Given the description of an element on the screen output the (x, y) to click on. 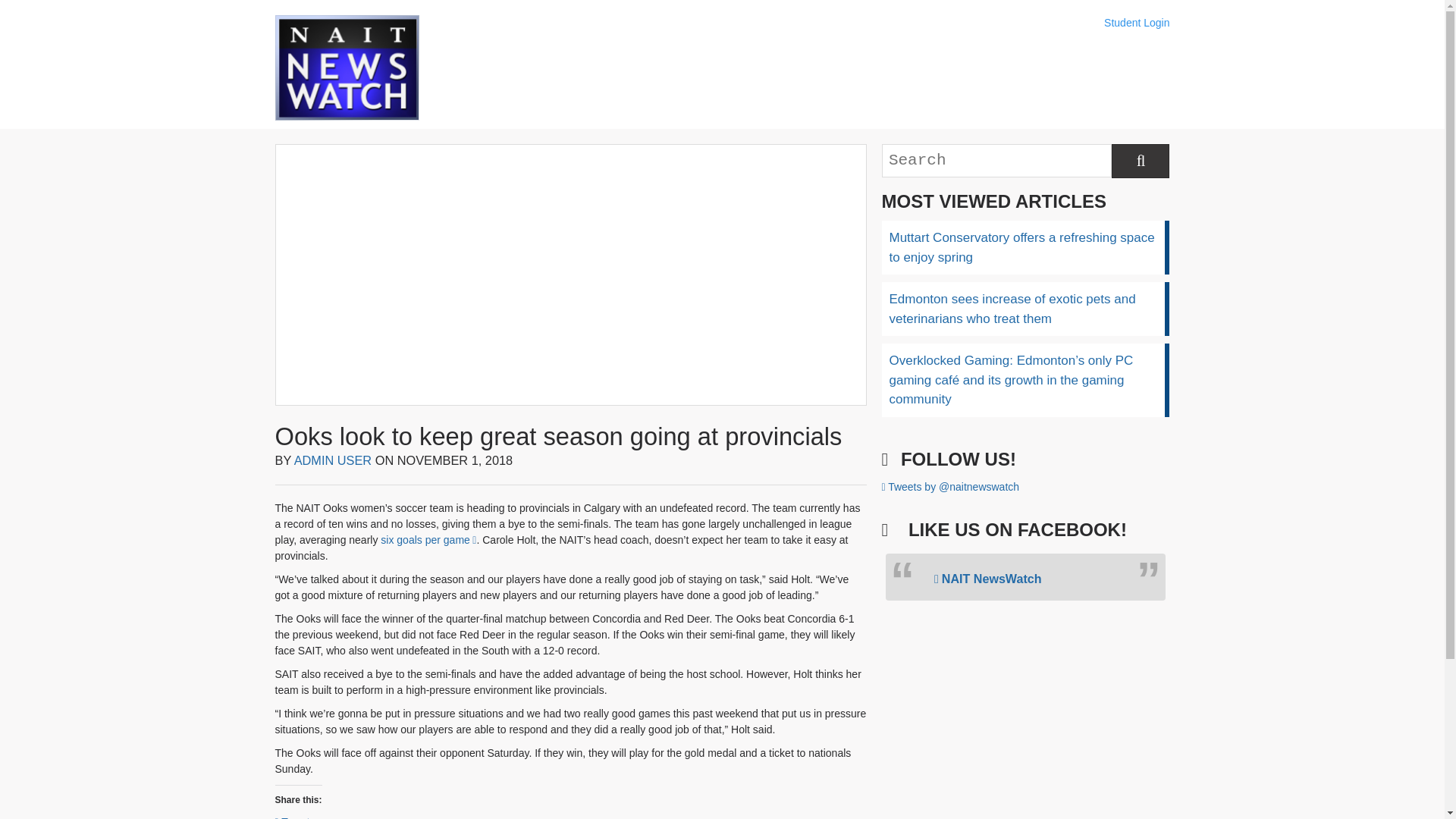
ADMIN USER (333, 459)
Personalities (874, 68)
Recipes (778, 68)
Student Login (1136, 23)
News (496, 68)
Second Edition (684, 68)
Blogs (590, 68)
six goals per game (428, 539)
